Given the description of an element on the screen output the (x, y) to click on. 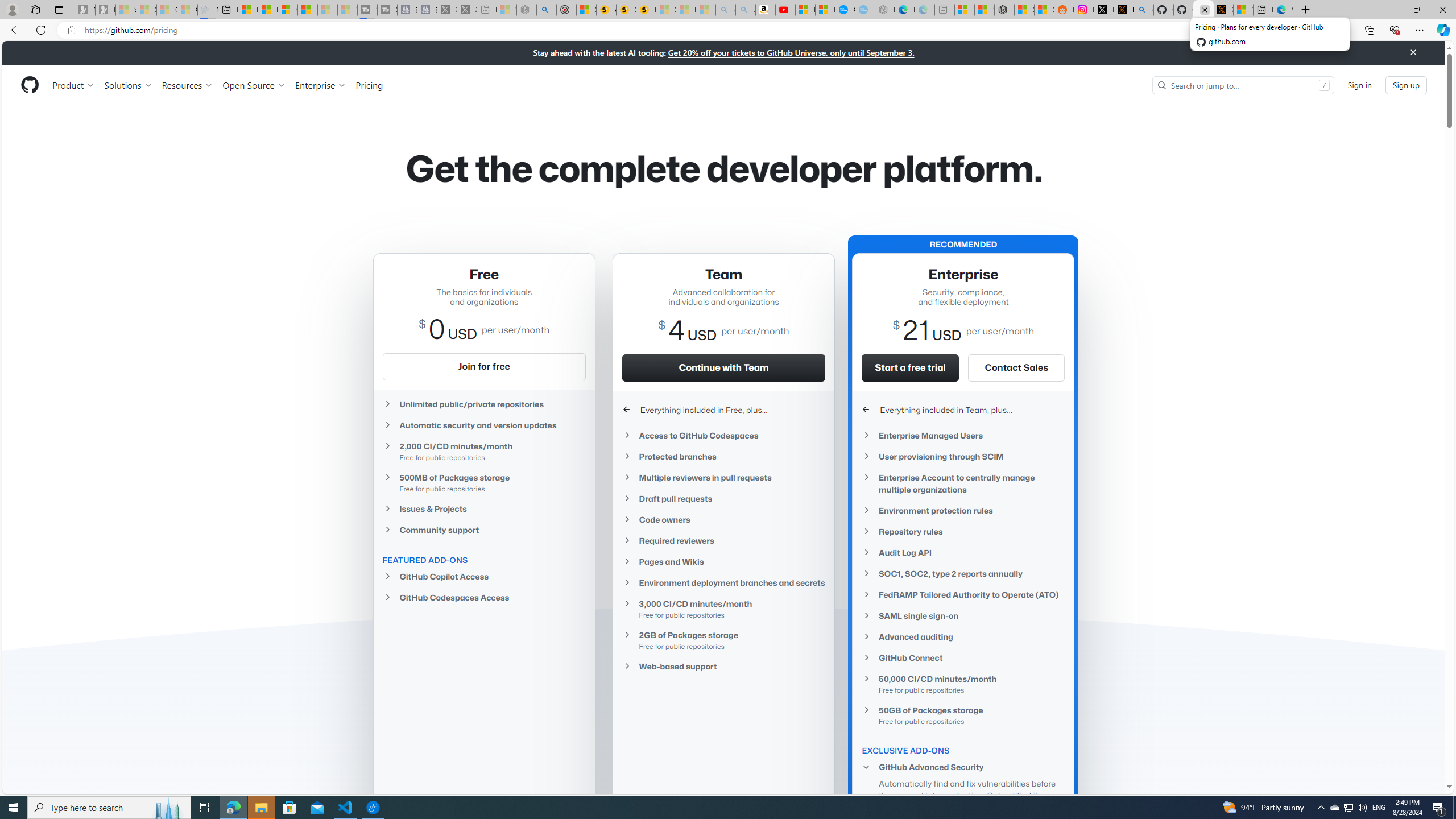
Overview (287, 9)
Newsletter Sign Up - Sleeping (105, 9)
Automatic security and version updates (483, 425)
SOC1, SOC2, type 2 reports annually (963, 573)
2,000 CI/CD minutes/month Free for public repositories (483, 451)
Contact Sales (1015, 367)
amazon - Search - Sleeping (725, 9)
GitHub Codespaces Access (483, 597)
50,000 CI/CD minutes/month Free for public repositories (963, 684)
GitHub Advanced Security (963, 767)
